Given the description of an element on the screen output the (x, y) to click on. 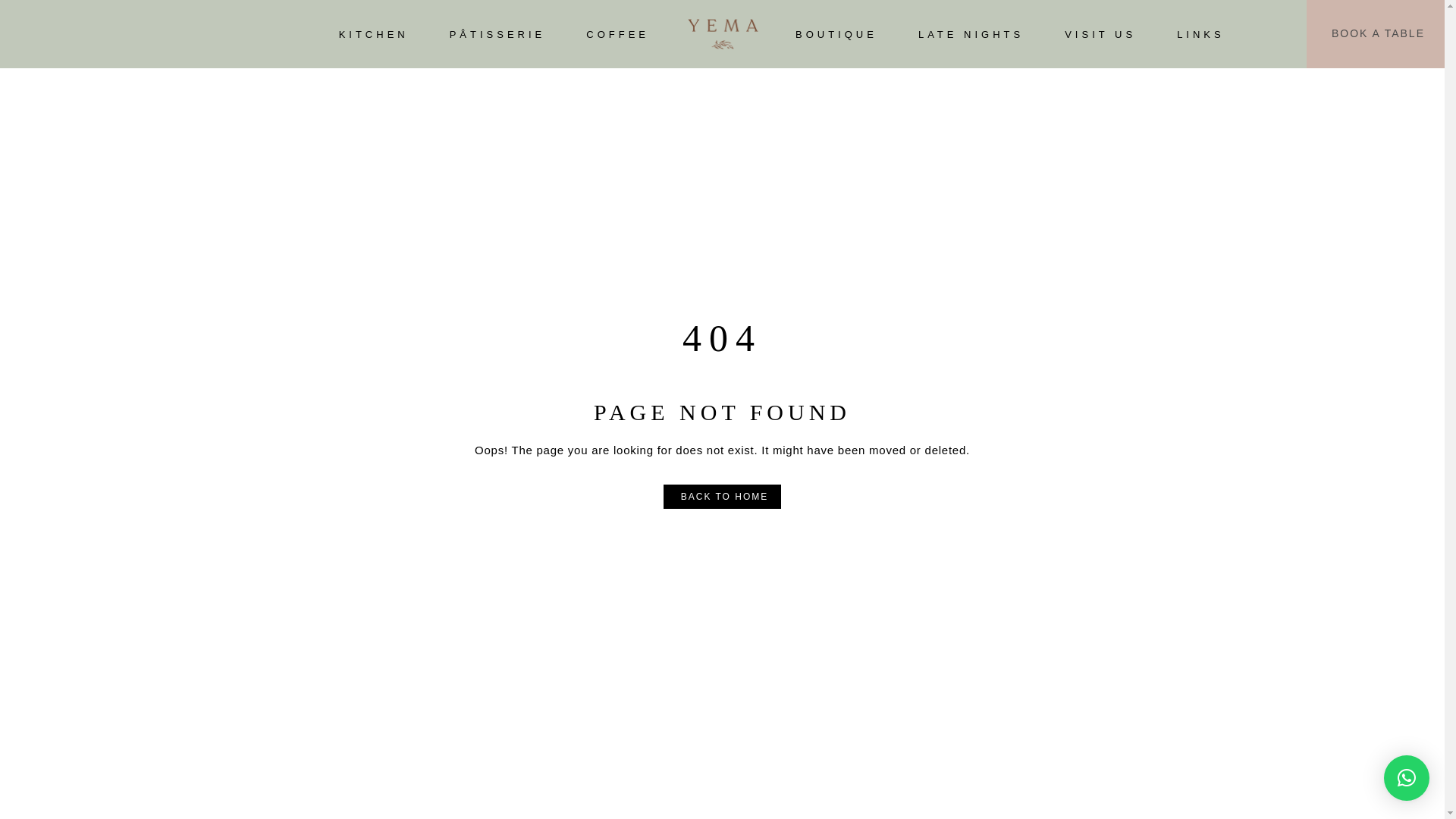
COFFEE (617, 33)
BACK TO HOME (722, 496)
LINKS (1200, 33)
VISIT US (1099, 33)
BOUTIQUE (836, 33)
LATE NIGHTS (970, 33)
KITCHEN (373, 33)
